Given the description of an element on the screen output the (x, y) to click on. 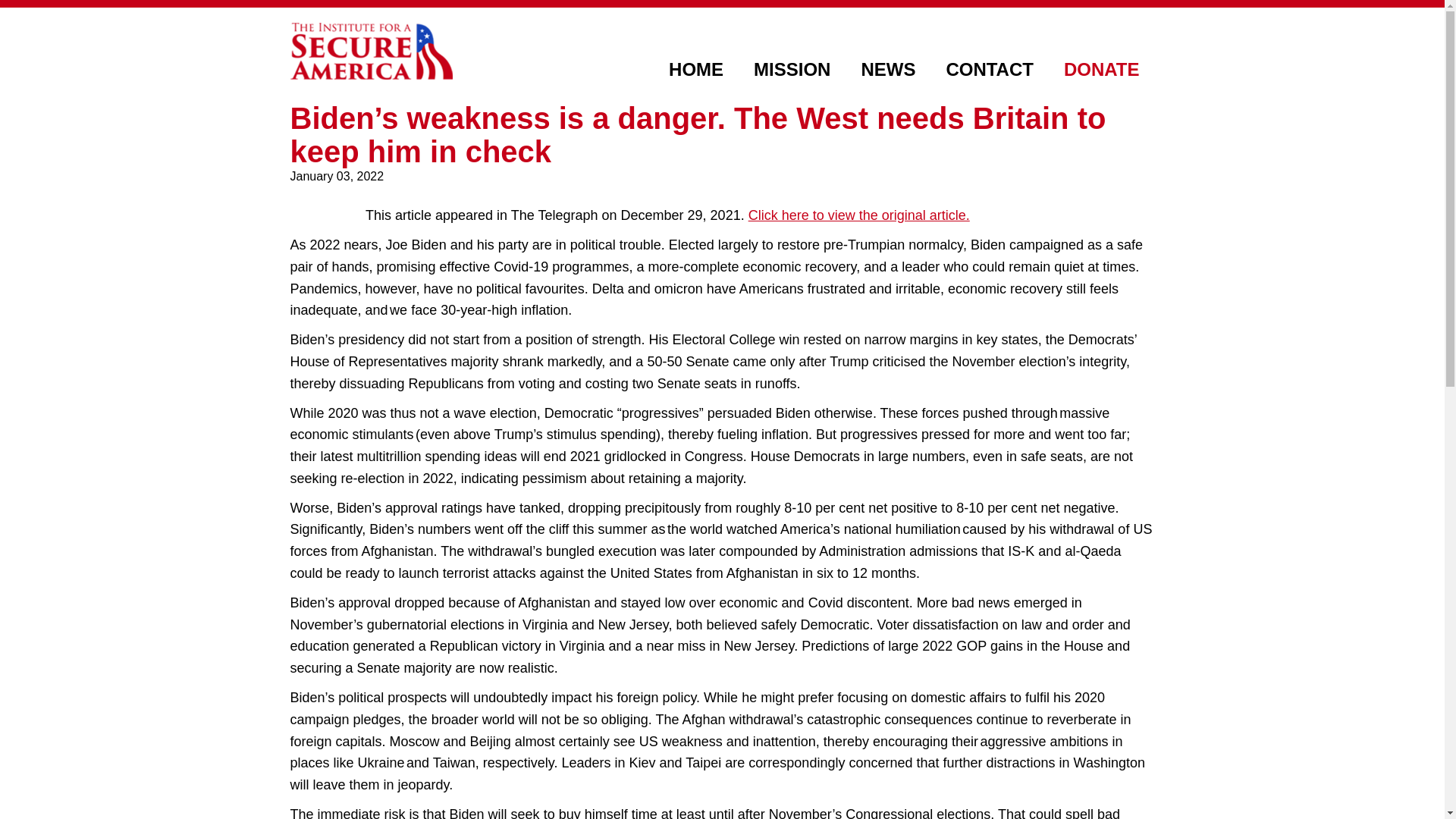
DONATE (1101, 69)
MISSION (791, 69)
HOME (695, 69)
Click here to view the original article. (858, 215)
The Institute for a Secure America (370, 50)
NEWS (887, 69)
CONTACT (989, 69)
